Given the description of an element on the screen output the (x, y) to click on. 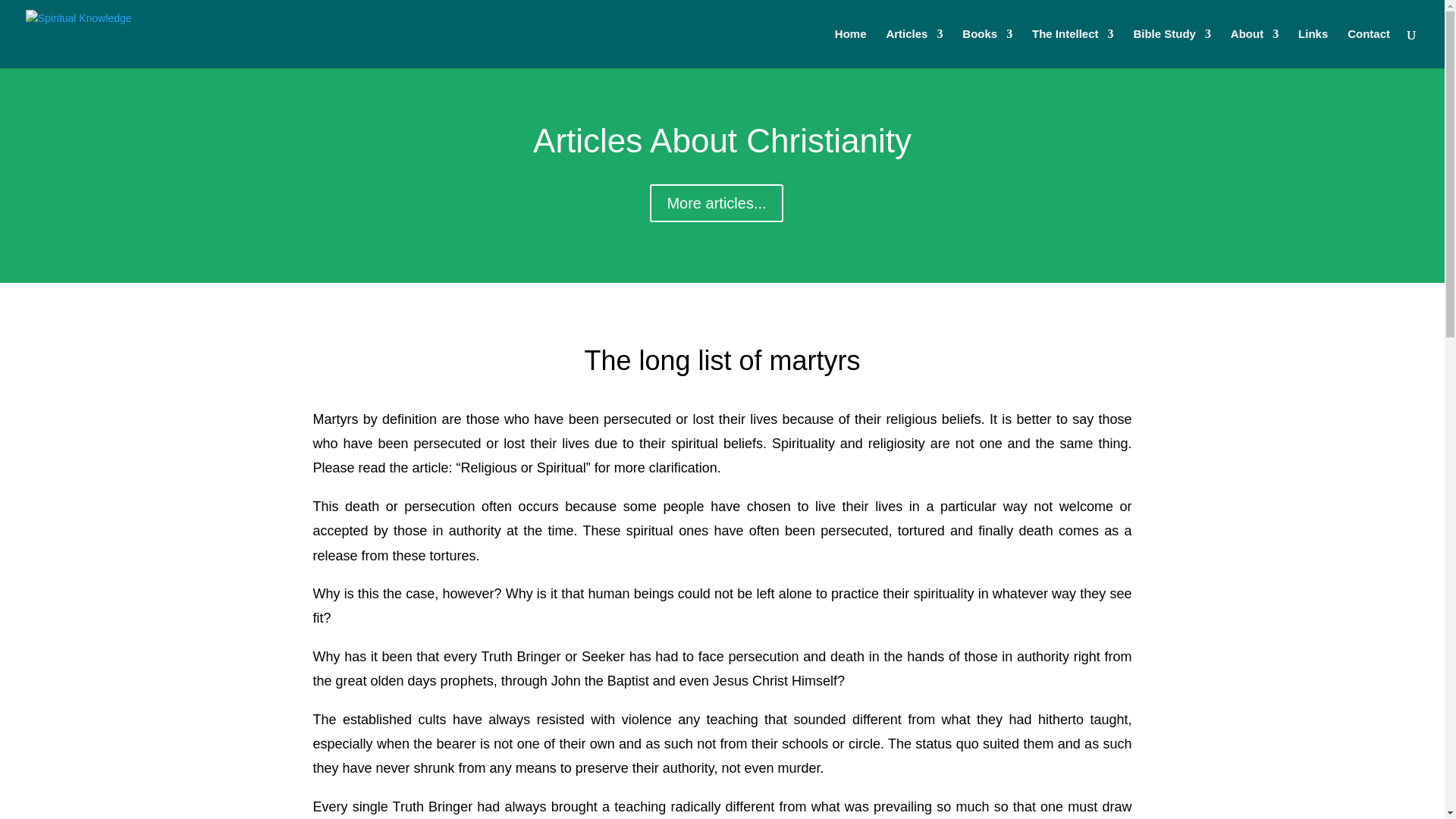
The Intellect (1072, 47)
About (1254, 47)
Bible Study (1171, 47)
Articles (913, 47)
Books (986, 47)
